Given the description of an element on the screen output the (x, y) to click on. 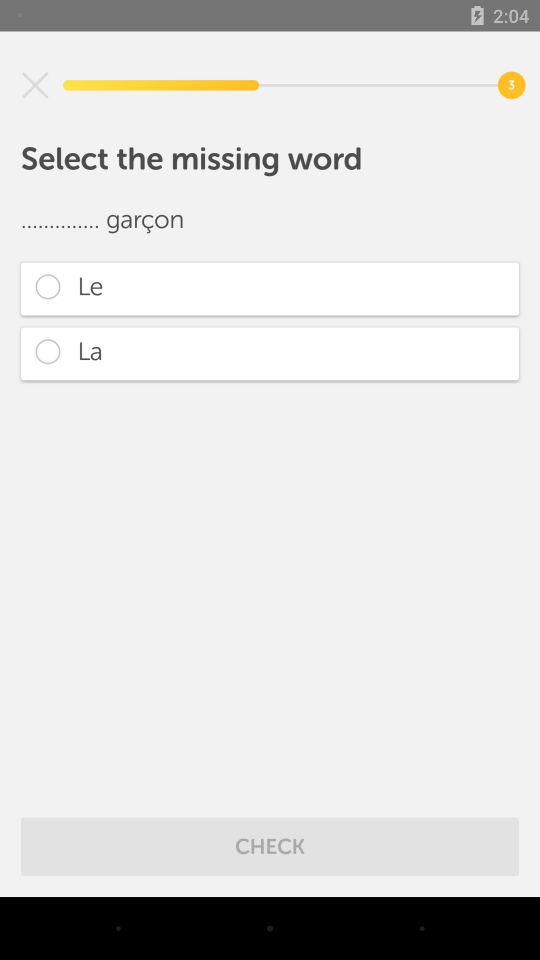
scroll to le (270, 288)
